Given the description of an element on the screen output the (x, y) to click on. 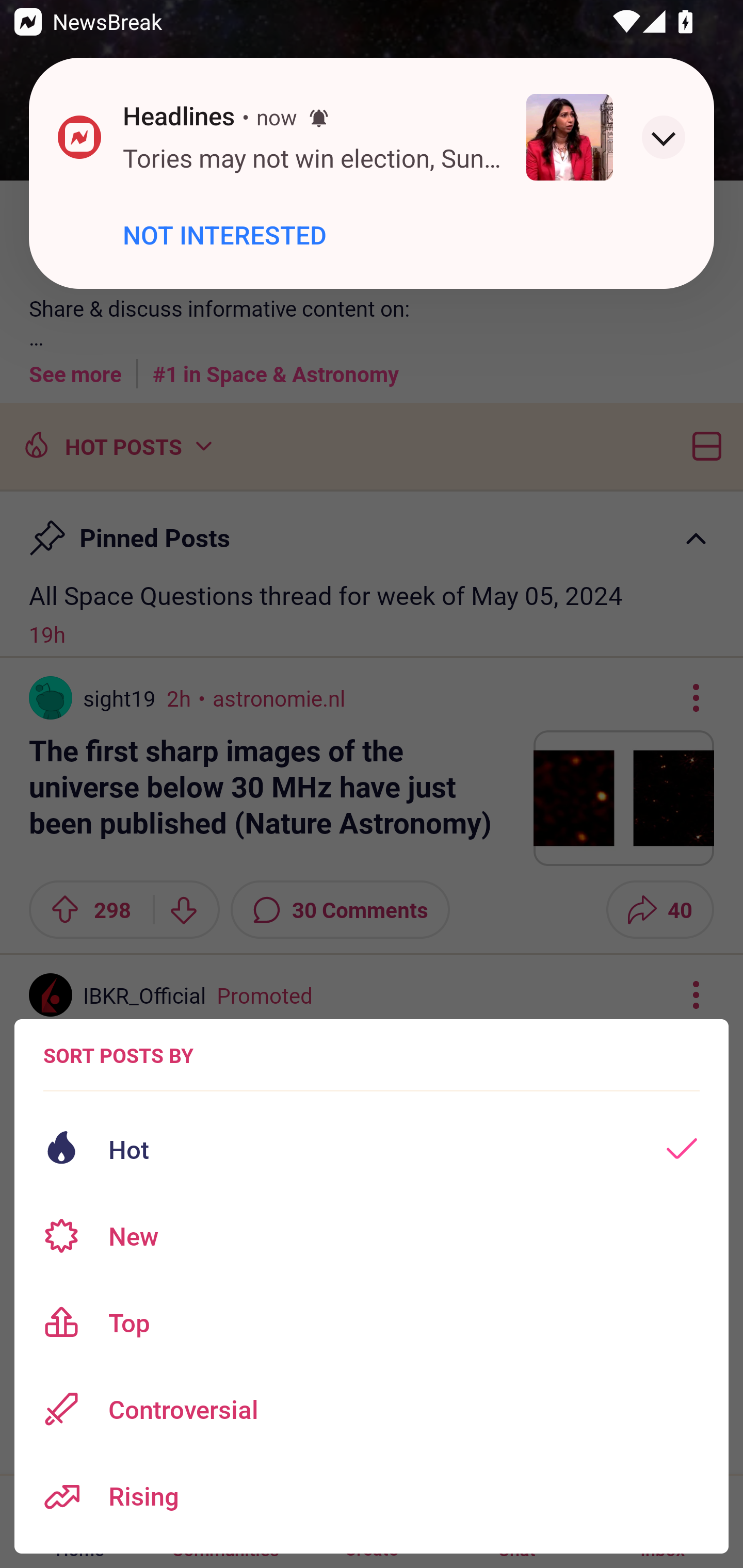
SORT POSTS BY Sort posts options (118, 1055)
Hot (371, 1149)
New (371, 1236)
Top (371, 1322)
Controversial (371, 1408)
Rising (371, 1495)
